Given the description of an element on the screen output the (x, y) to click on. 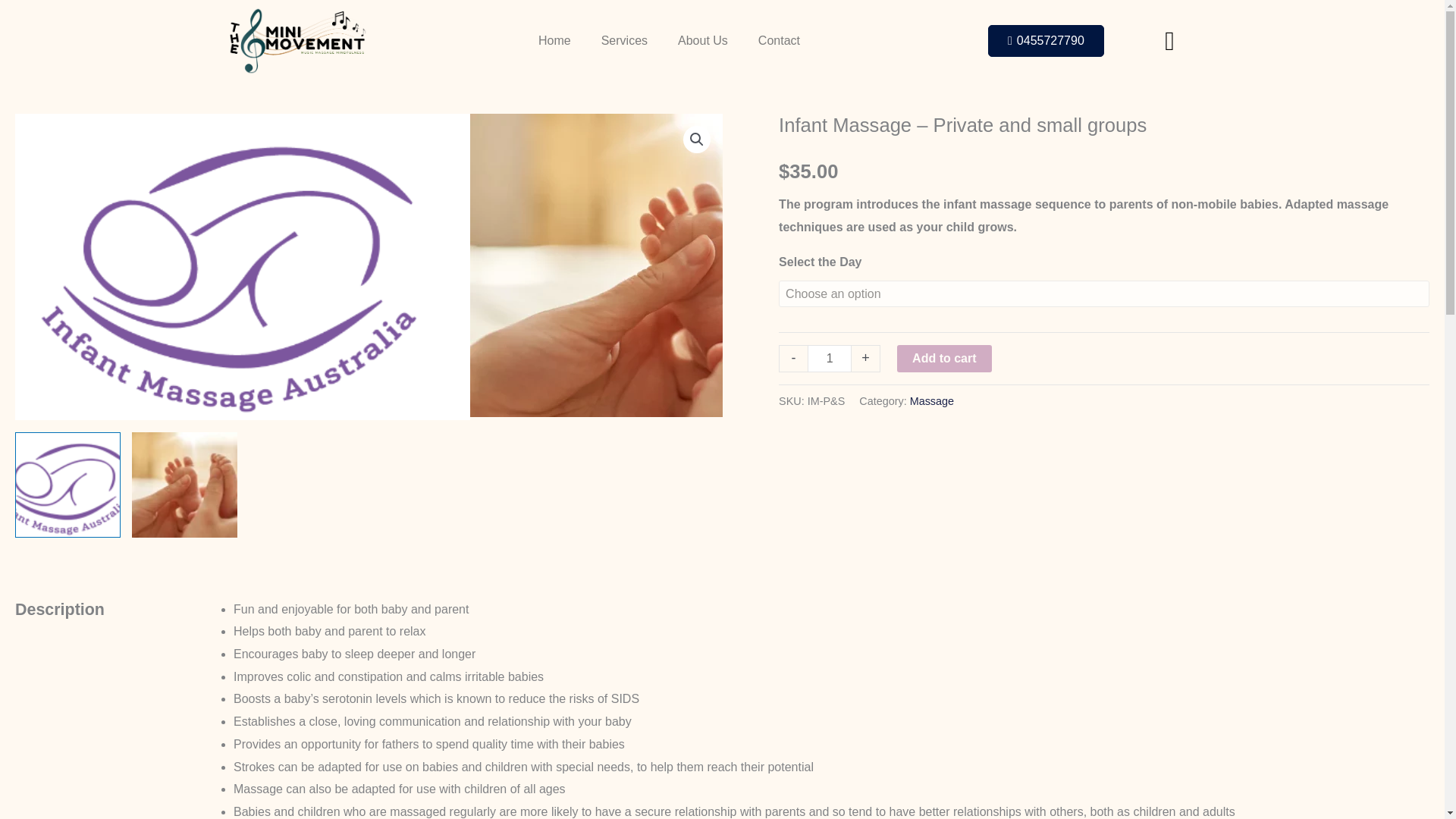
- (793, 357)
Add to cart (943, 358)
0455727790 (1045, 40)
Services (624, 40)
Home (554, 40)
Contact (778, 40)
1 (829, 357)
About Us (702, 40)
Massage (931, 399)
